Given the description of an element on the screen output the (x, y) to click on. 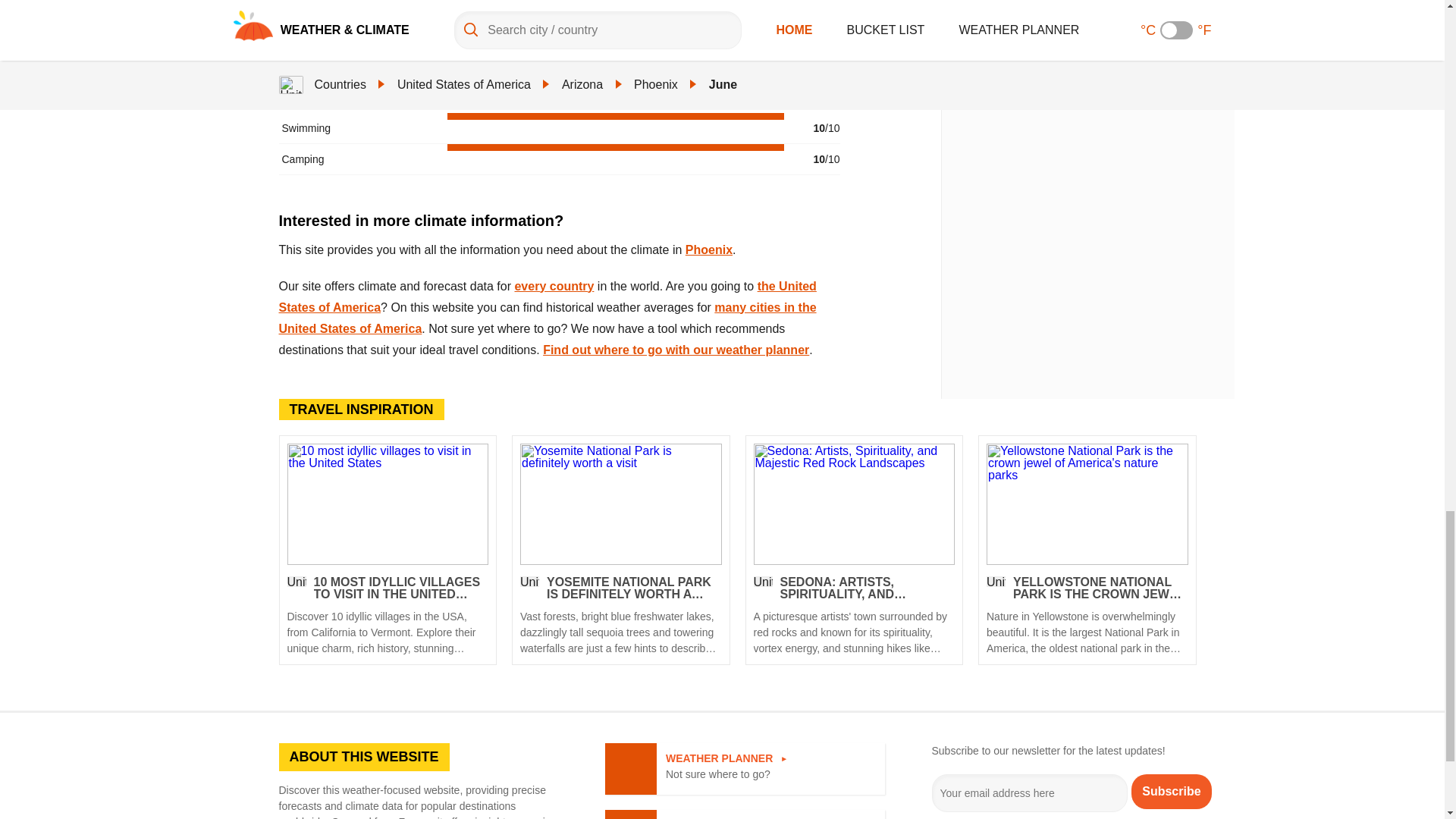
10 most idyllic villages to visit in the United States (386, 616)
Yosemite National Park is definitely worth a visit (620, 616)
Yosemite National Park is definitely worth a visit (620, 503)
10 most idyllic villages to visit in the United States (386, 503)
Subscribe (1171, 790)
